Given the description of an element on the screen output the (x, y) to click on. 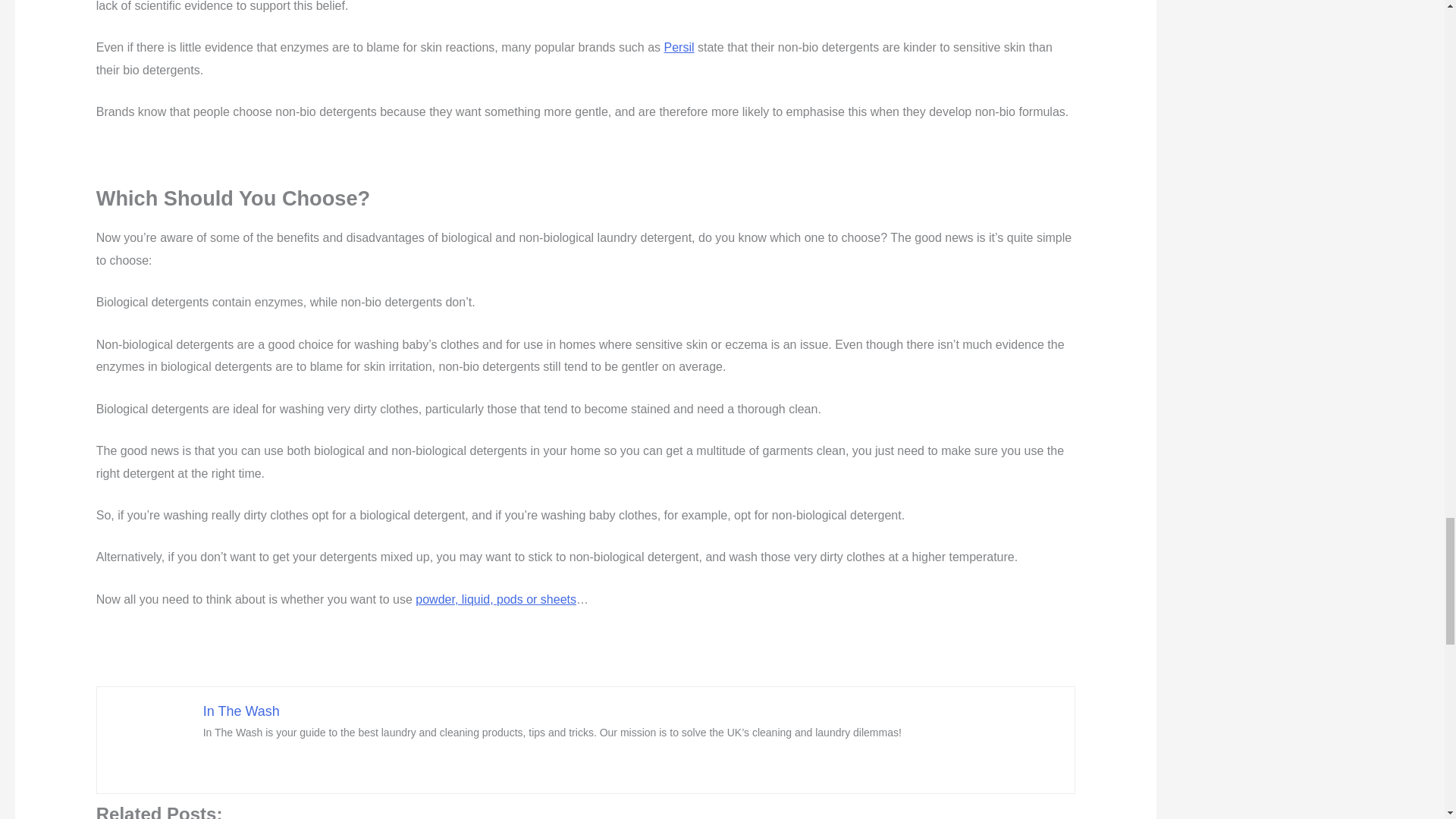
powder, liquid, pods or sheets (495, 599)
Persil (678, 47)
In The Wash (241, 711)
